Given the description of an element on the screen output the (x, y) to click on. 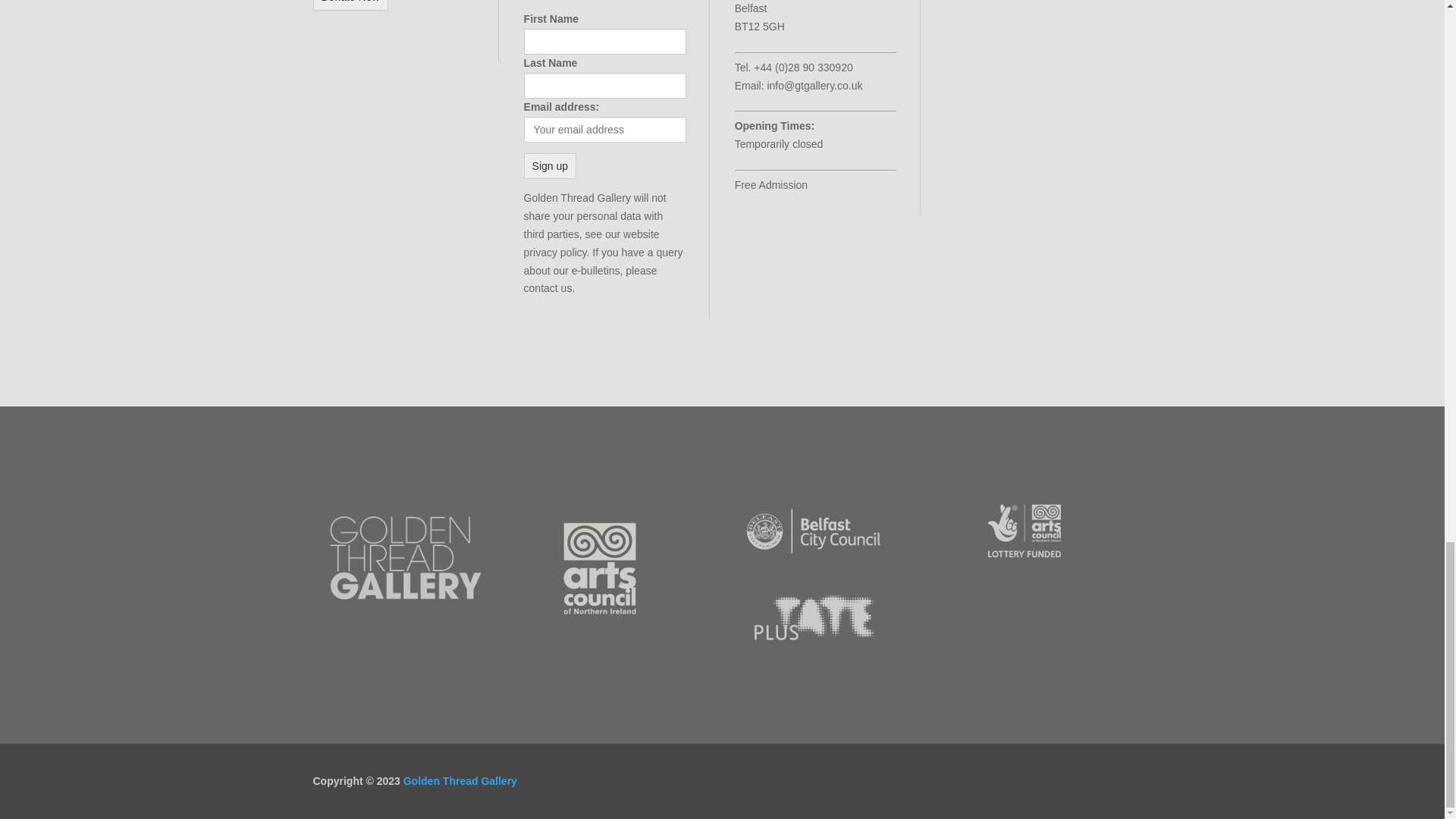
tate-logo (813, 618)
lottery-logo (1023, 530)
acni-logo (599, 568)
gtg-logo-grey (406, 558)
Sign up (550, 166)
bcc-logo (813, 530)
